Given the description of an element on the screen output the (x, y) to click on. 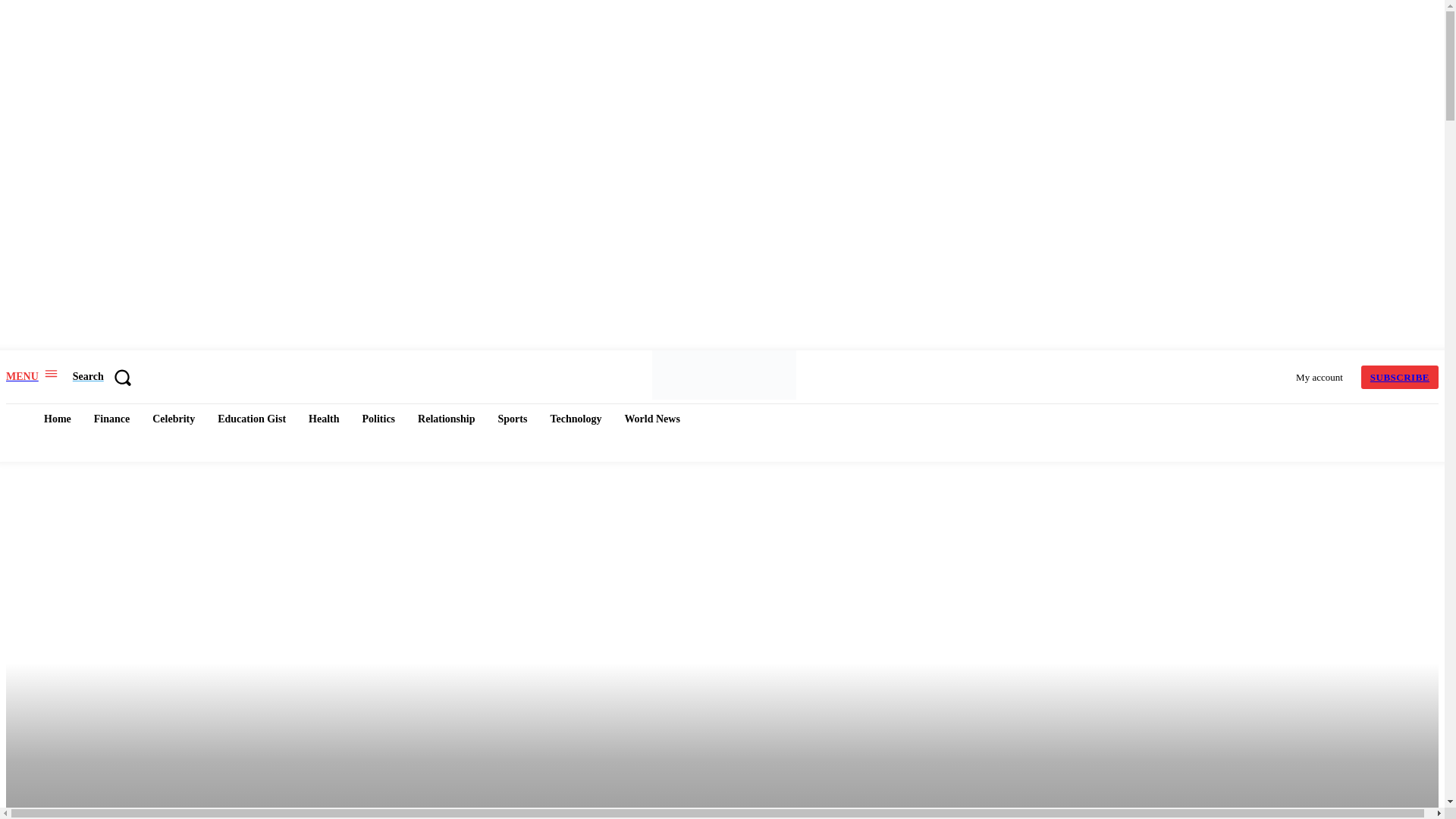
Subscribe (1399, 377)
Health (323, 418)
Celebrity (173, 418)
SUBSCRIBE (1399, 377)
Example.Ng (724, 374)
Example.Ng (721, 262)
Technology (574, 418)
Home (57, 418)
Example.Ng (724, 374)
Relationship (445, 418)
